Given the description of an element on the screen output the (x, y) to click on. 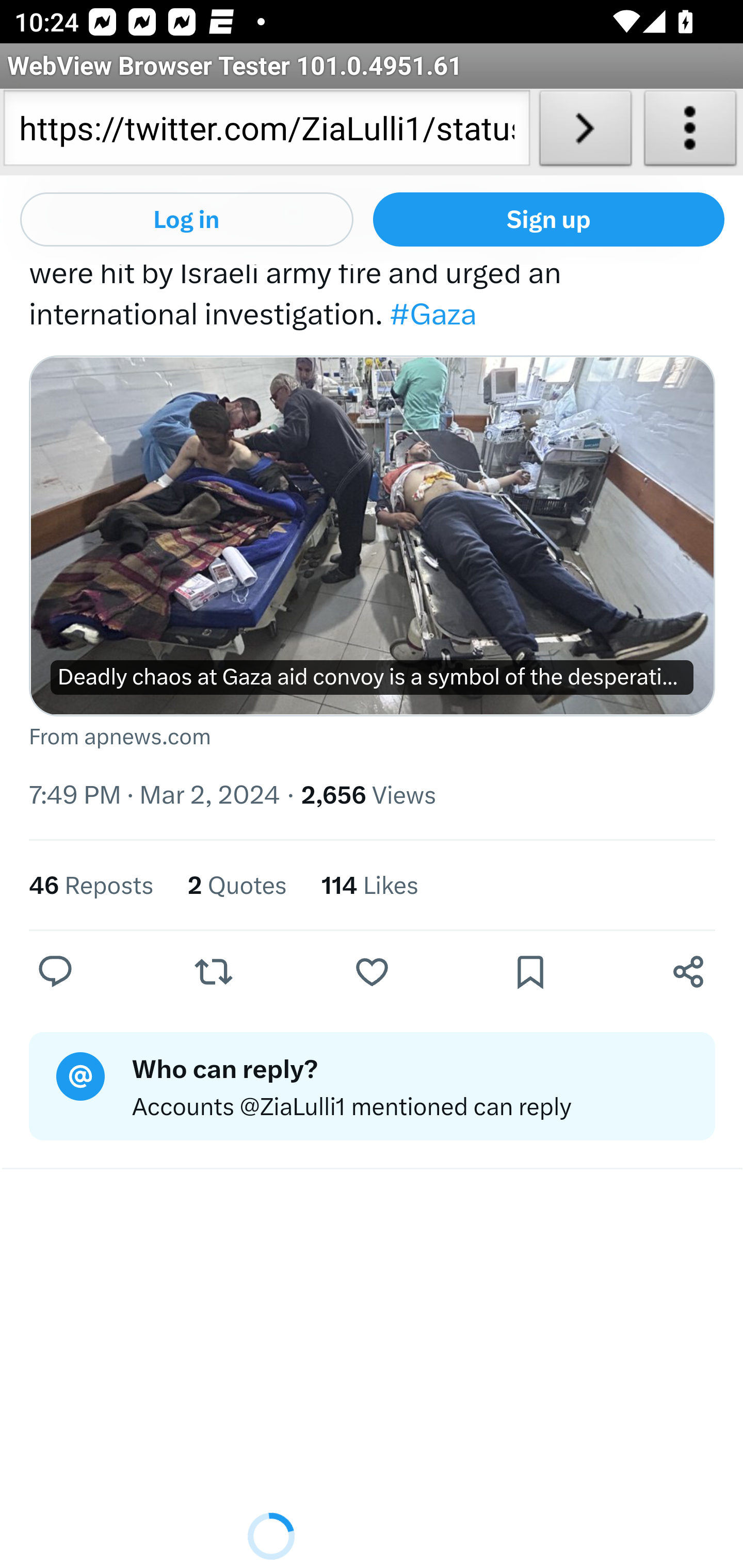
Load URL (585, 132)
About WebView (690, 132)
#Gaza (432, 314)
From apnews.com From  apnews.com (372, 737)
7:49 PM · Mar 2, 2024 (154, 794)
46 Reposts 46   Reposts (91, 885)
2 Quotes 2   Quotes (235, 885)
114 Likes 114   Likes (369, 885)
Reply (55, 970)
Repost (212, 970)
Like (371, 970)
0 Bookmarks. Bookmark (534, 970)
Share post (688, 970)
